Given the description of an element on the screen output the (x, y) to click on. 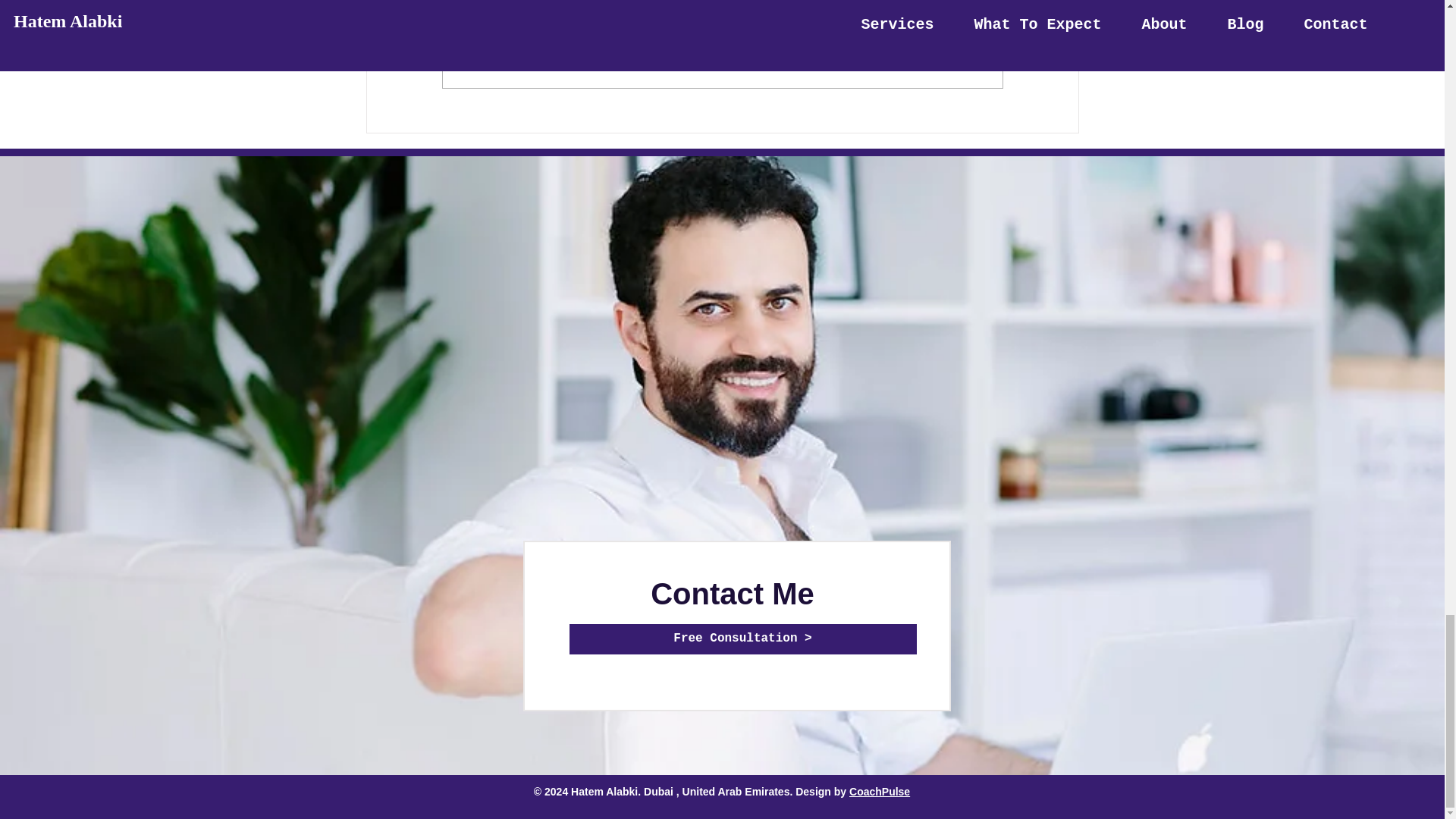
CoachPulse (879, 791)
Write a comment... (722, 66)
Contact Me (731, 593)
